Given the description of an element on the screen output the (x, y) to click on. 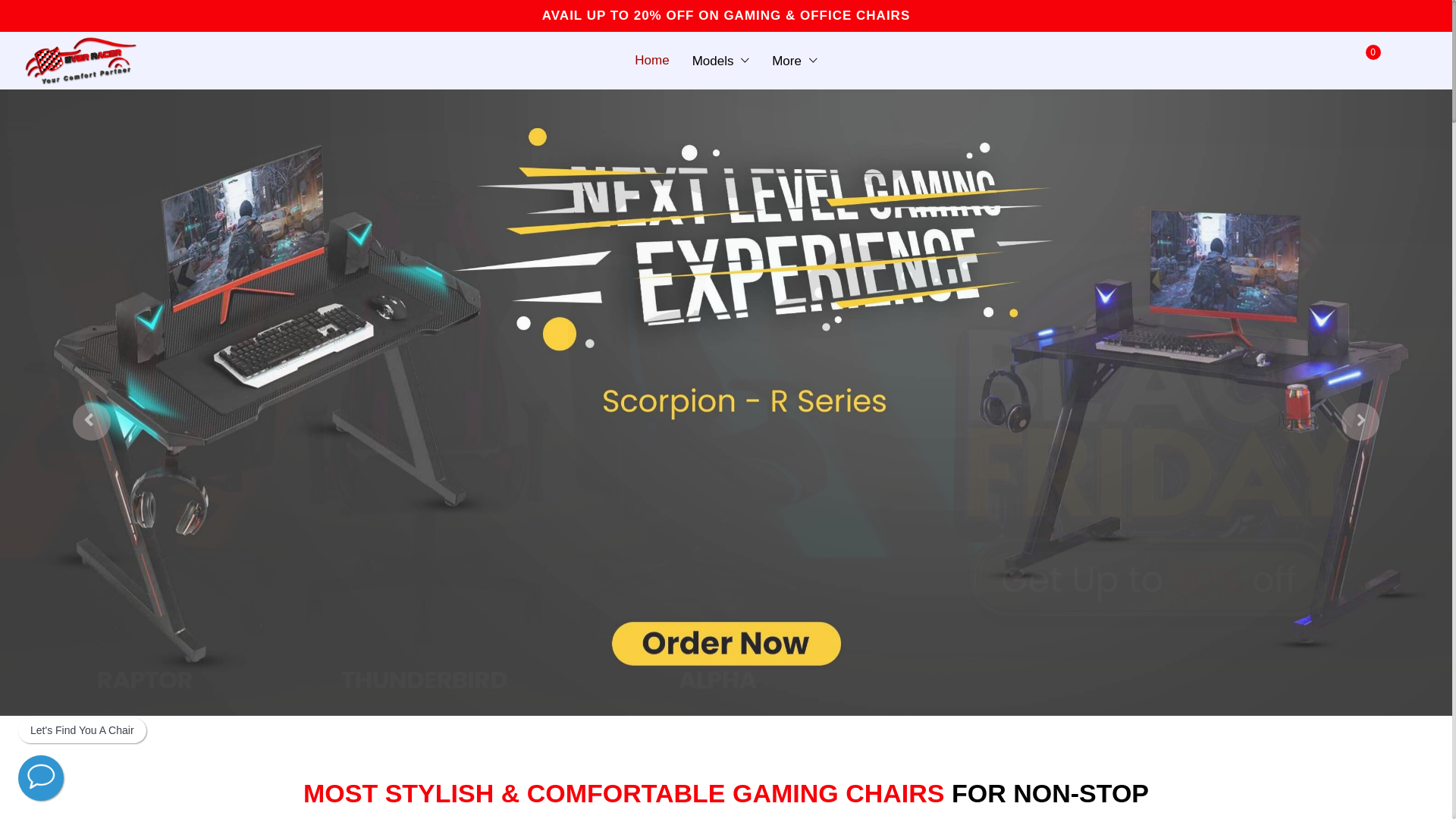
Home Element type: text (651, 59)
Next Element type: text (1360, 421)
Previous Element type: text (91, 421)
0 Element type: text (1372, 59)
More Element type: text (794, 59)
Models Element type: text (720, 59)
